Given the description of an element on the screen output the (x, y) to click on. 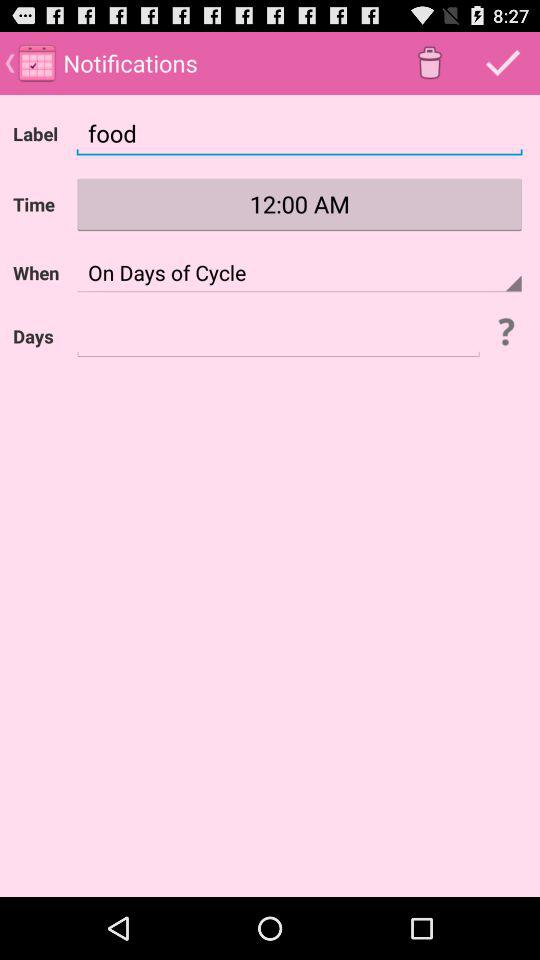
digit the text (278, 335)
